Given the description of an element on the screen output the (x, y) to click on. 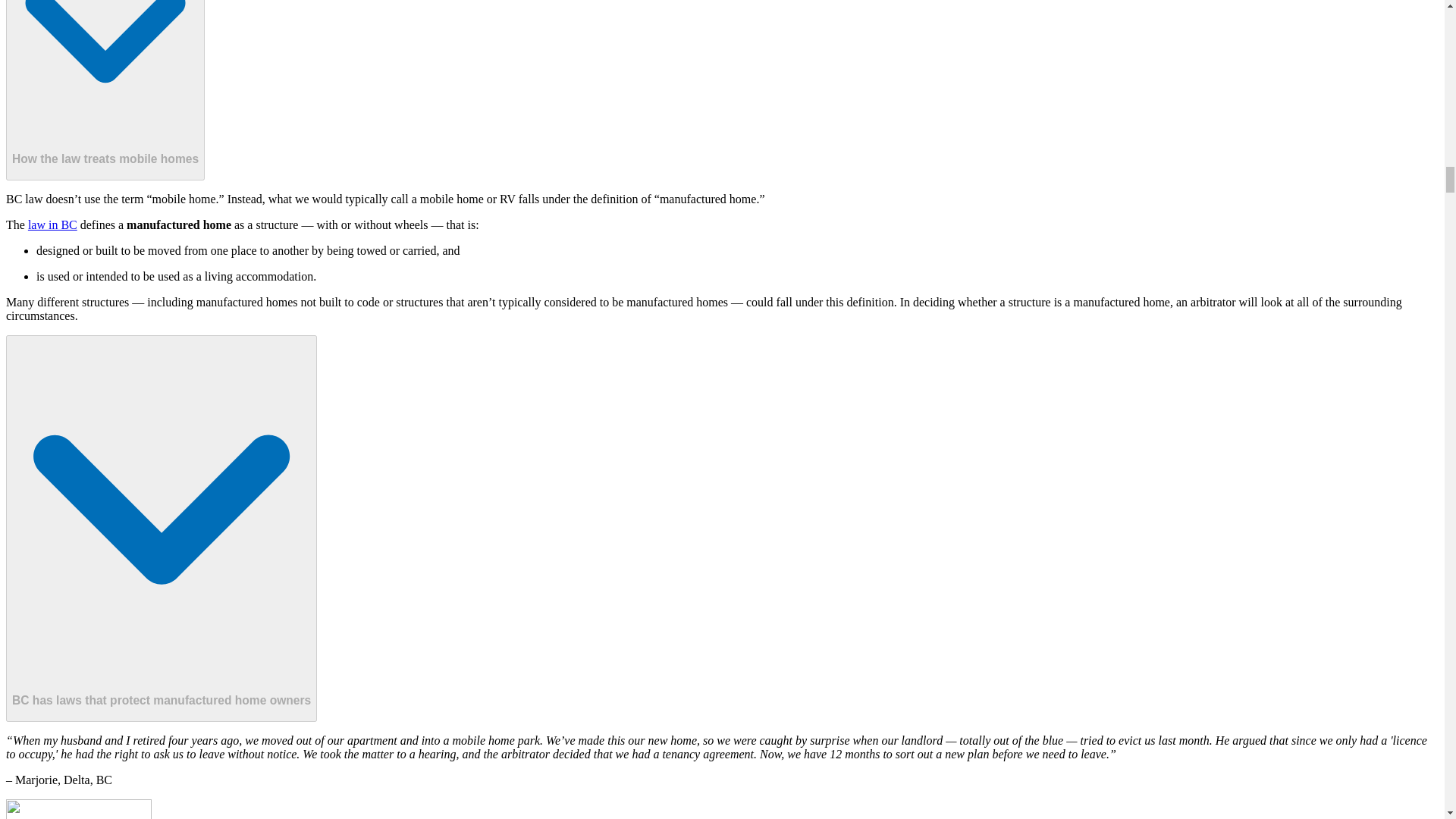
How the law treats mobile homes (105, 90)
BC has laws that protect manufactured home owners (161, 527)
law in BC (52, 224)
